Given the description of an element on the screen output the (x, y) to click on. 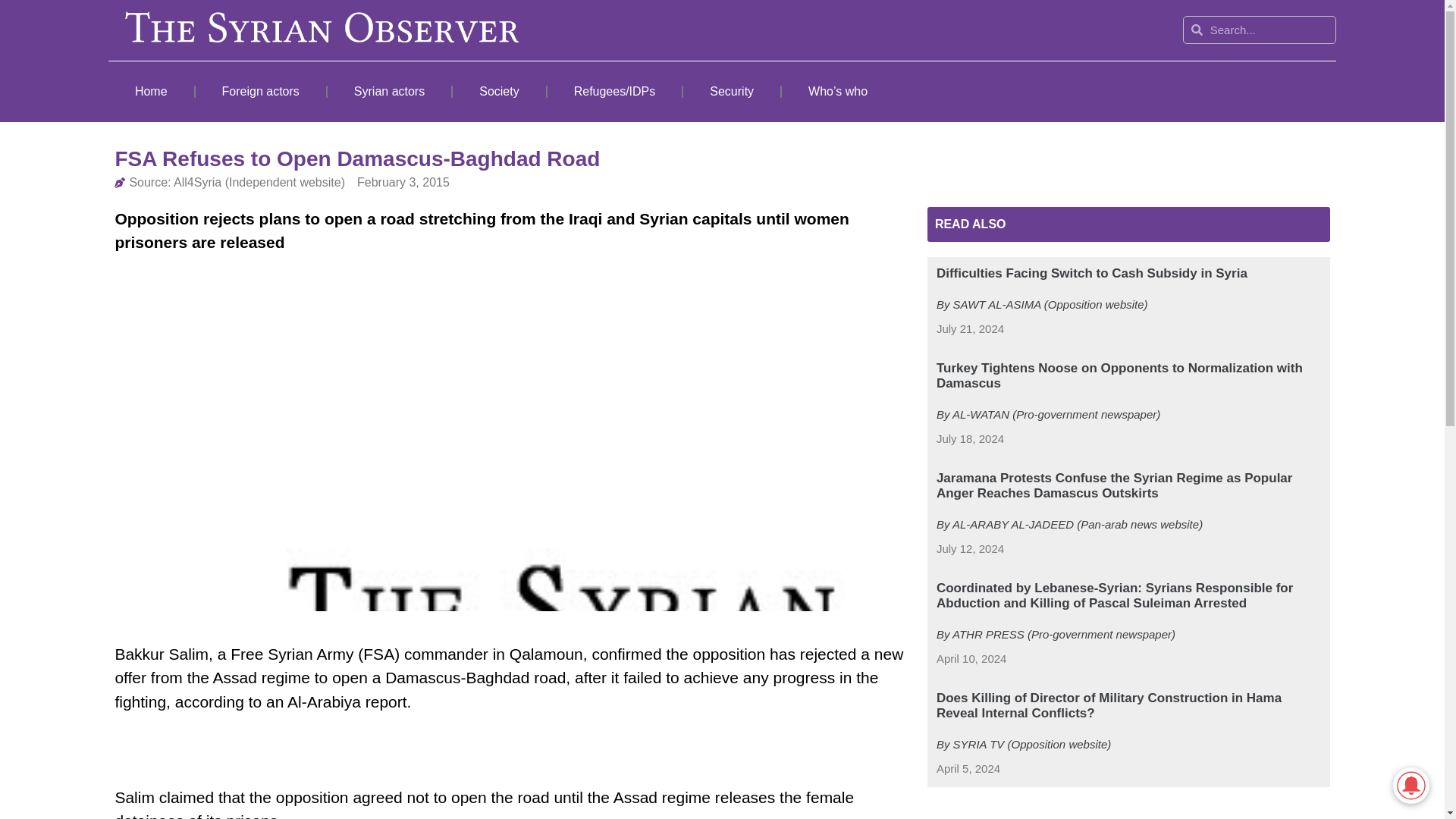
Home (150, 91)
July 12, 2024 (970, 548)
April 10, 2024 (971, 659)
Syrian actors (389, 91)
Security (731, 91)
Difficulties Facing Switch to Cash Subsidy in Syria (1091, 273)
July 21, 2024 (970, 329)
April 5, 2024 (968, 769)
Foreign actors (260, 91)
July 18, 2024 (970, 438)
Society (498, 91)
